Given the description of an element on the screen output the (x, y) to click on. 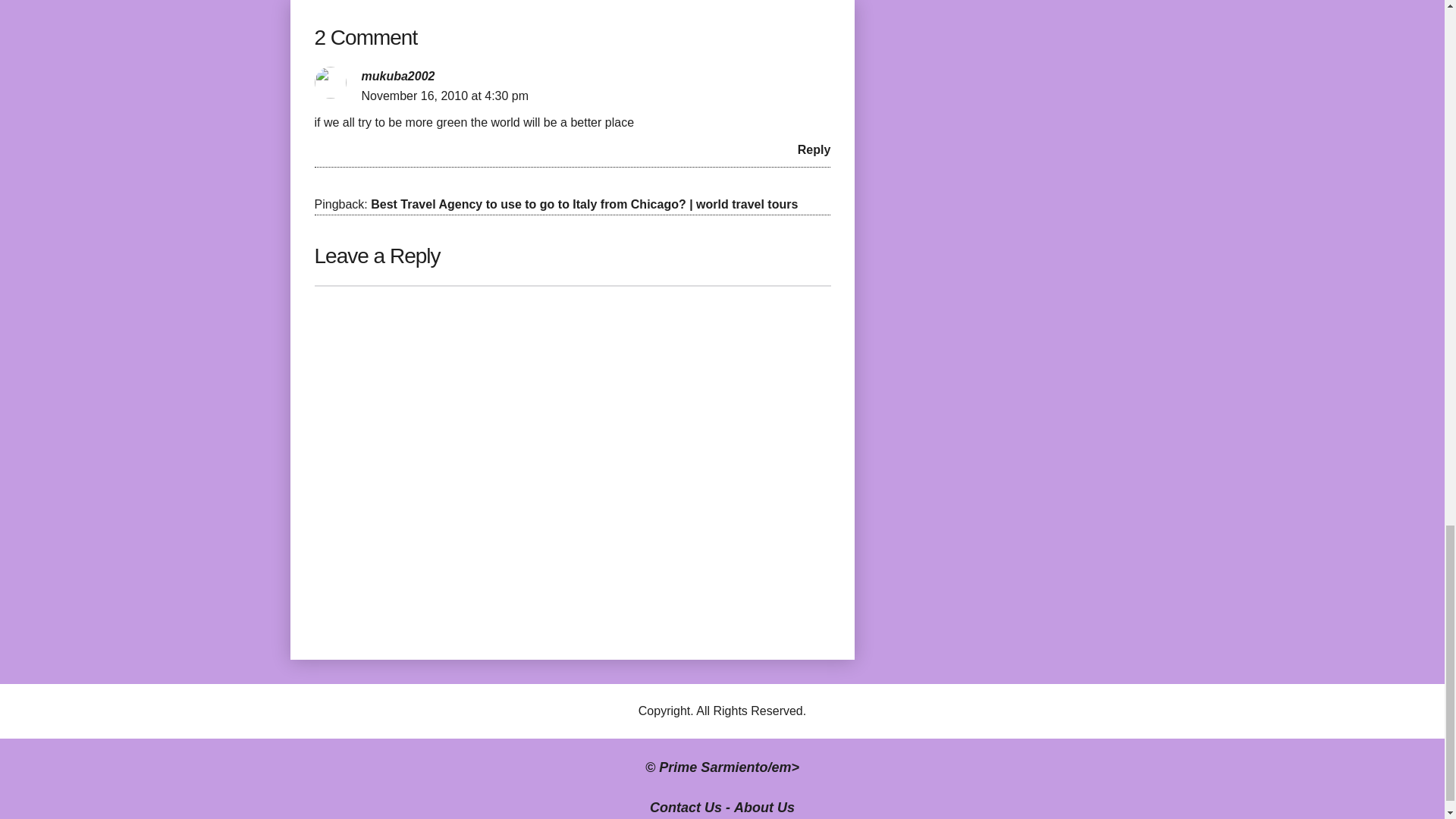
November 16, 2010 at 4:30 pm (444, 95)
About Us (763, 807)
Contact Us (685, 807)
mukuba2002 (397, 75)
Reply (814, 149)
